Given the description of an element on the screen output the (x, y) to click on. 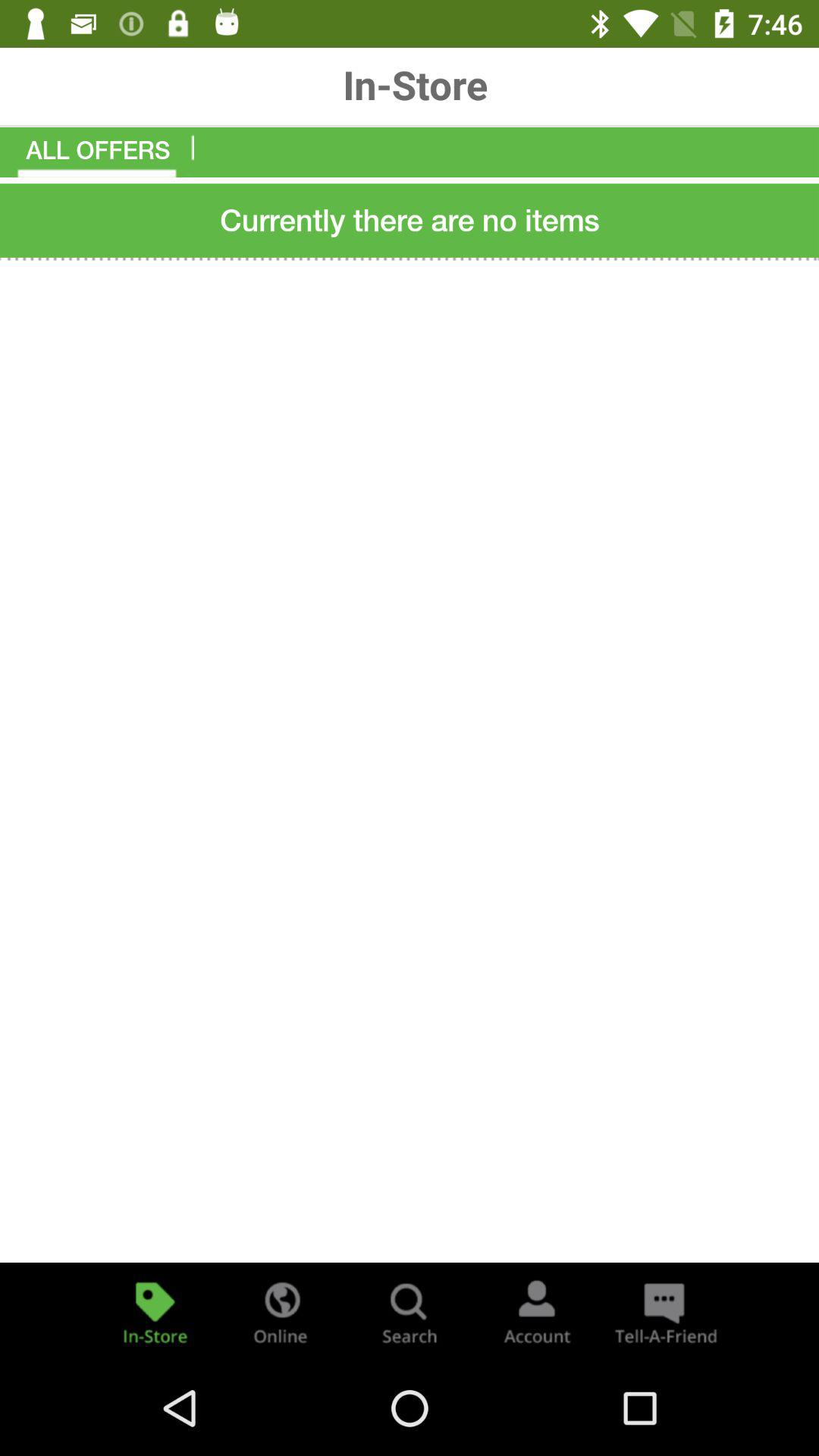
search for item online (281, 1311)
